Given the description of an element on the screen output the (x, y) to click on. 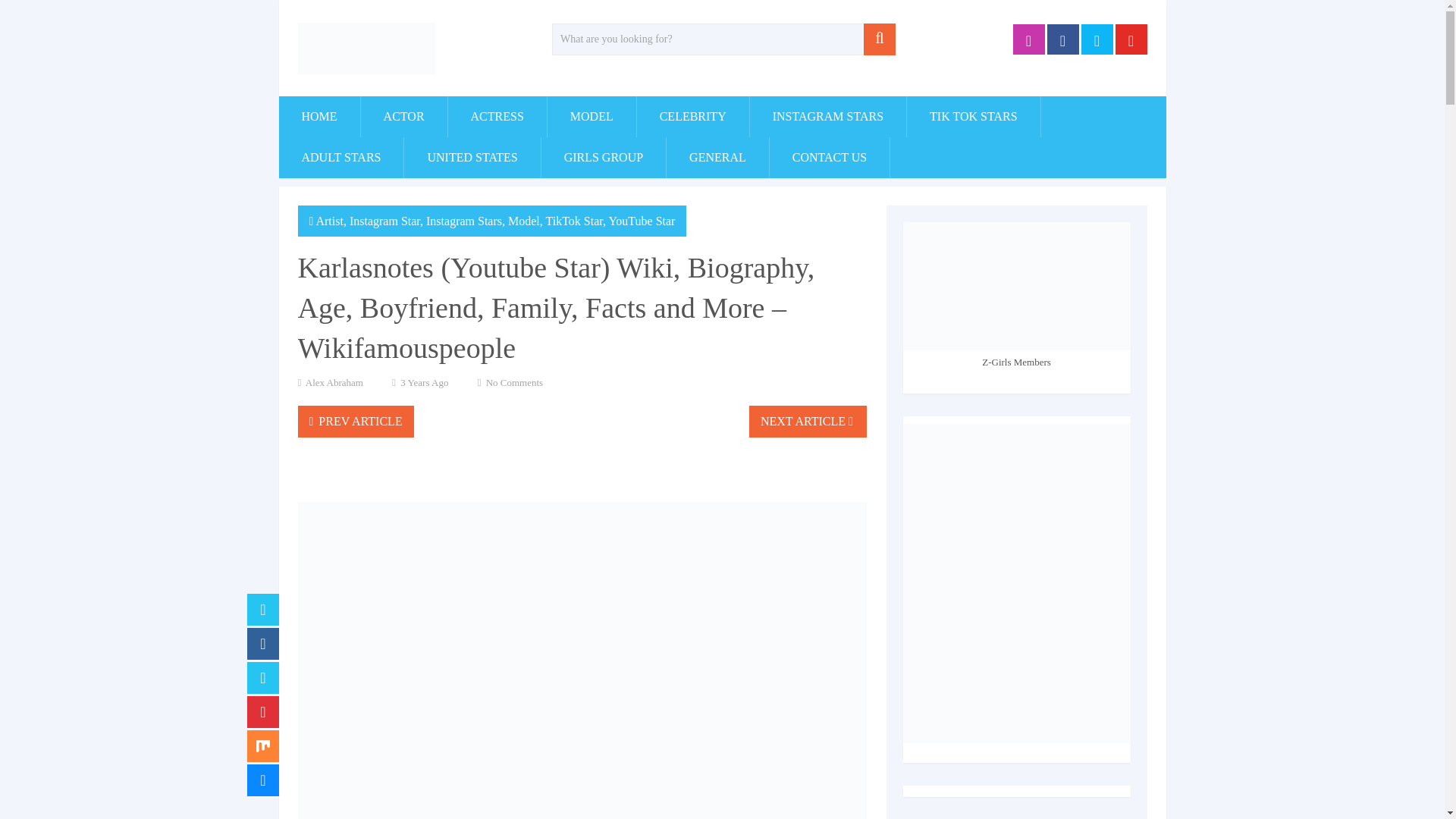
View all posts in Instagram Star (384, 220)
Instagram Stars (464, 220)
ACTOR (403, 116)
Alex Abraham (333, 382)
TikTok Star (574, 220)
HOME (319, 116)
View all posts in Instagram Stars (464, 220)
CELEBRITY (693, 116)
TIK TOK STARS (973, 116)
CONTACT US (829, 157)
